Given the description of an element on the screen output the (x, y) to click on. 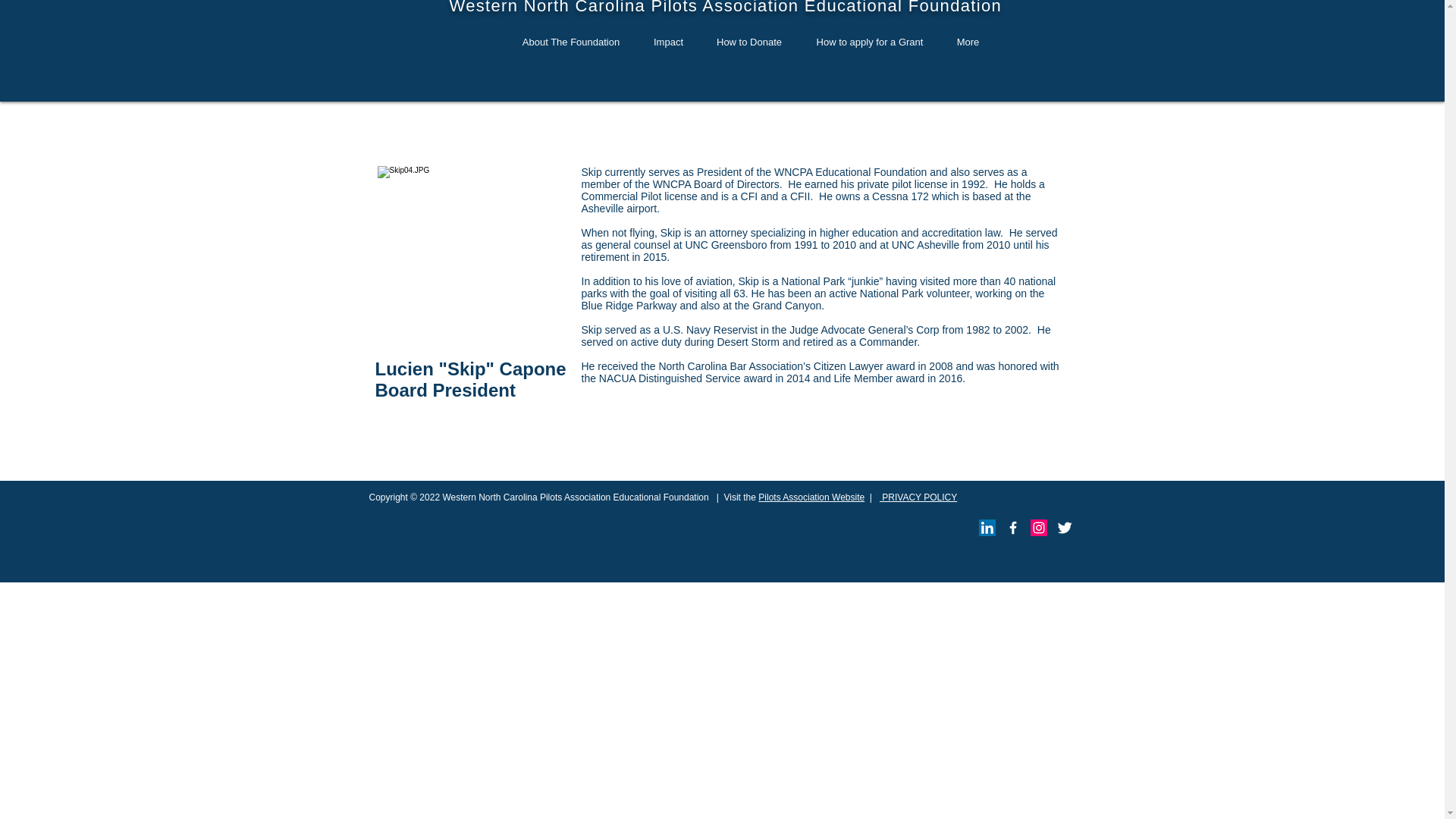
How to apply for a Grant (869, 42)
About The Foundation (571, 42)
Impact (667, 42)
Pilots Association (793, 497)
How to Donate (747, 42)
 PRIVACY POLICY (917, 497)
